Given the description of an element on the screen output the (x, y) to click on. 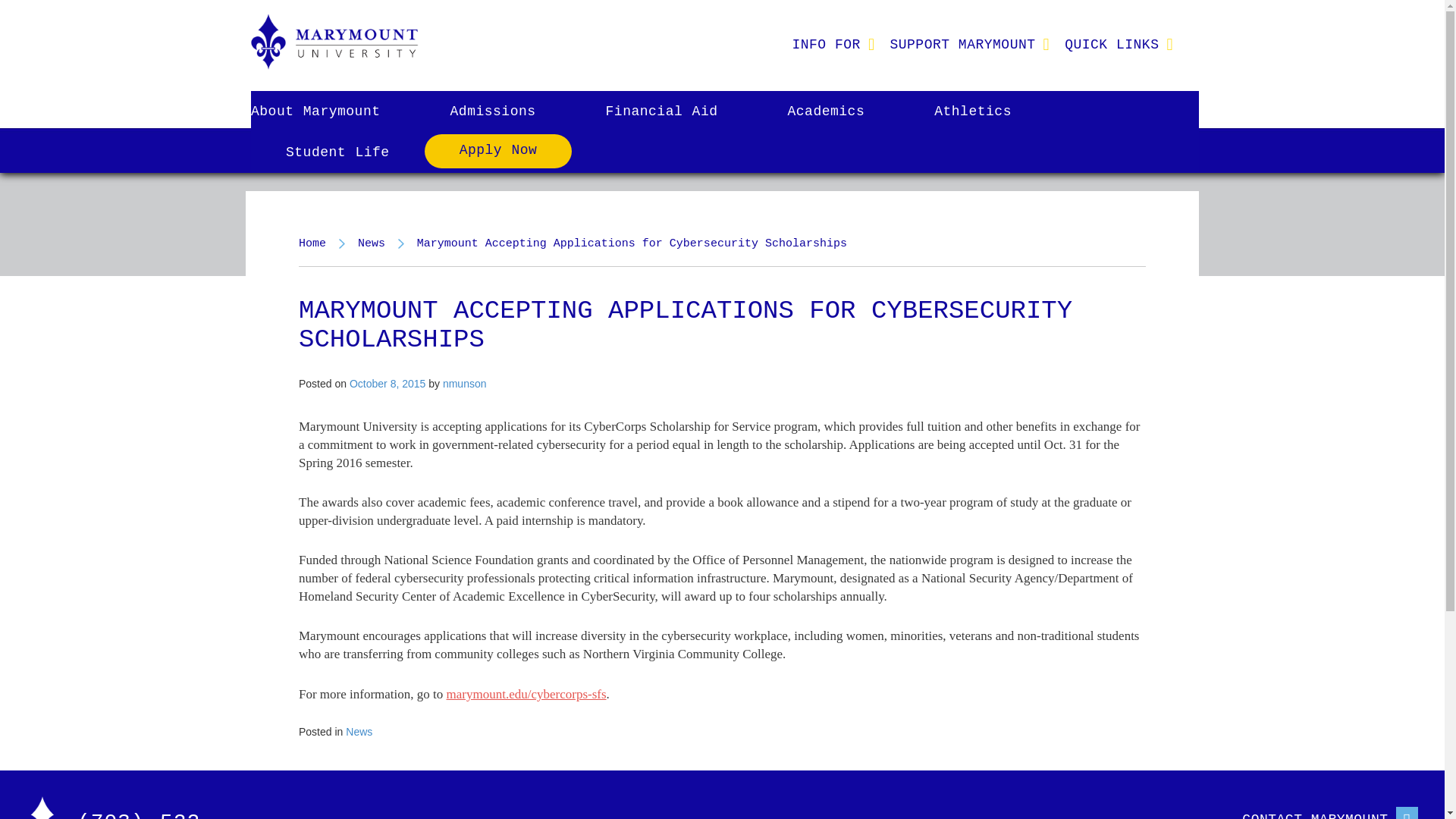
About Marymount (332, 110)
QUICK LINKS (1111, 44)
INFO FOR (825, 44)
Contact Us (1271, 812)
SUPPORT MARYMOUNT (962, 44)
